Given the description of an element on the screen output the (x, y) to click on. 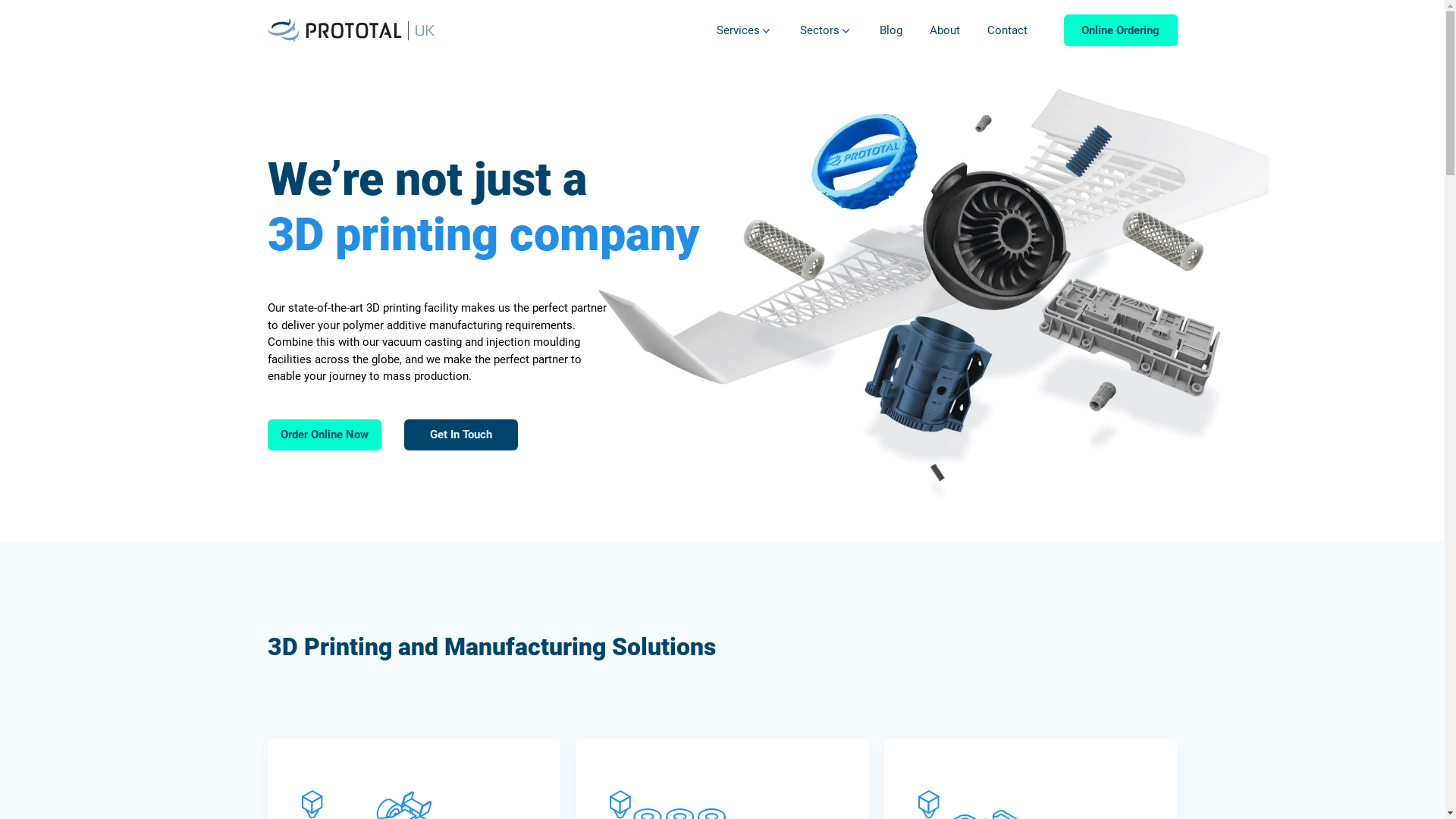
Sectors Element type: text (825, 30)
Blog Element type: text (891, 30)
Services Element type: text (744, 30)
Online Ordering Element type: text (1119, 30)
Get In Touch Element type: text (460, 435)
About Element type: text (944, 30)
Order Online Now Element type: text (323, 435)
Contact Element type: text (1007, 30)
